Given the description of an element on the screen output the (x, y) to click on. 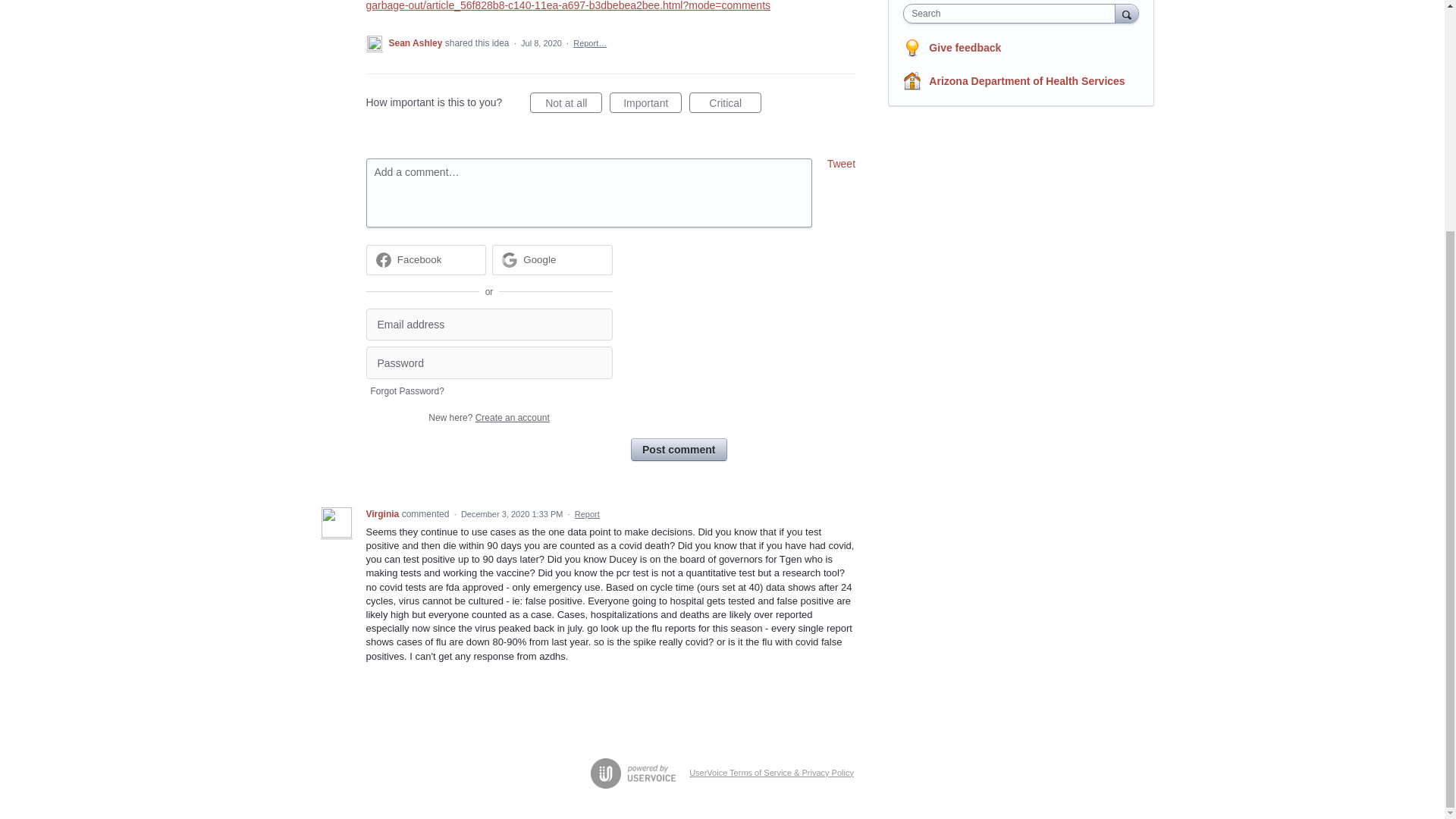
Facebook sign in (425, 259)
Google (539, 259)
Tweet (841, 163)
New here? Create an account (488, 417)
Google sign in (552, 259)
Important (645, 102)
Facebook (425, 259)
Google (552, 259)
Critical (724, 102)
Sean Ashley (416, 42)
Forgot Password? (406, 390)
Not at all (565, 102)
Facebook (419, 259)
